Given the description of an element on the screen output the (x, y) to click on. 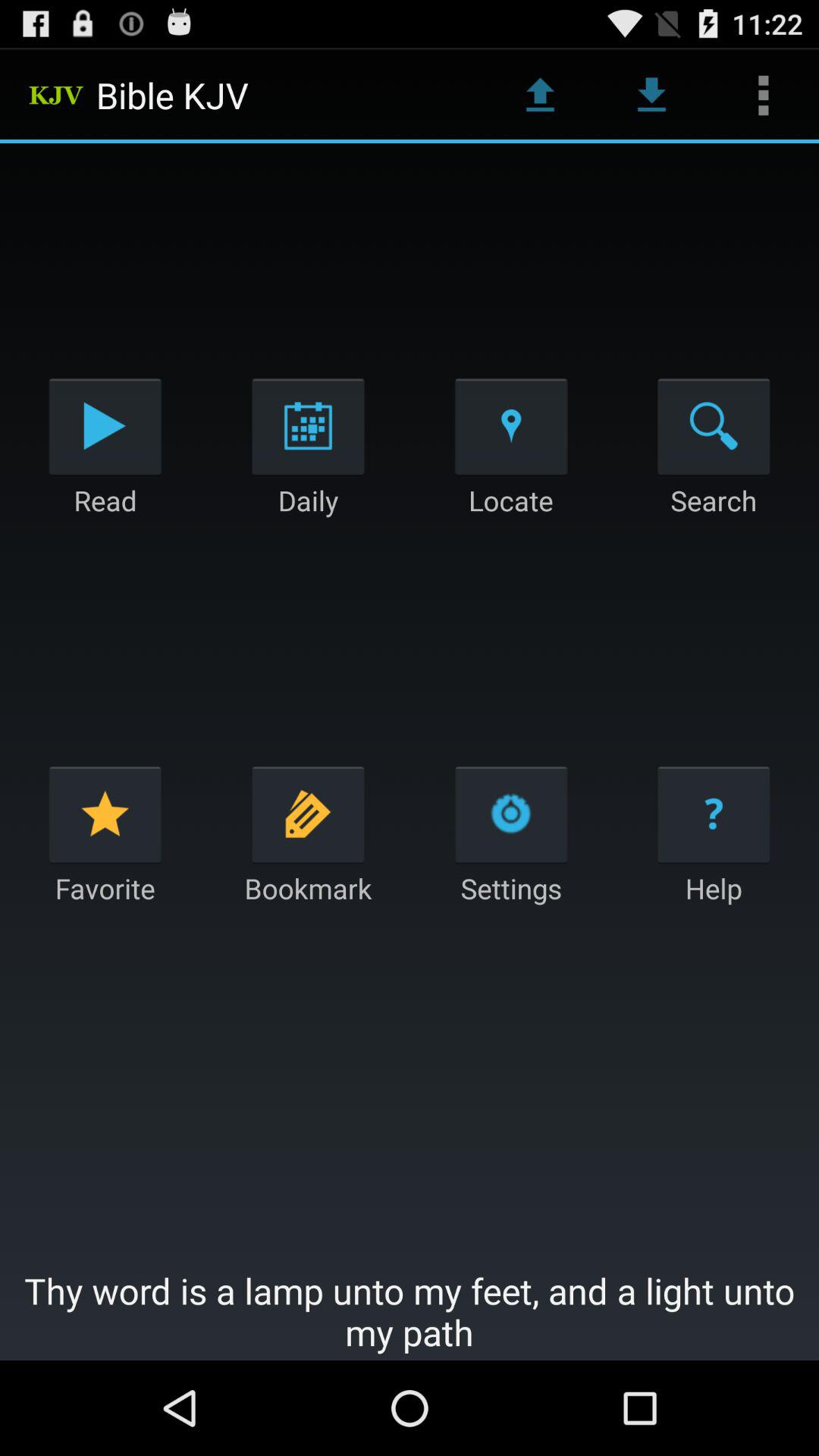
launch the item to the right of the bible kjv (540, 95)
